Given the description of an element on the screen output the (x, y) to click on. 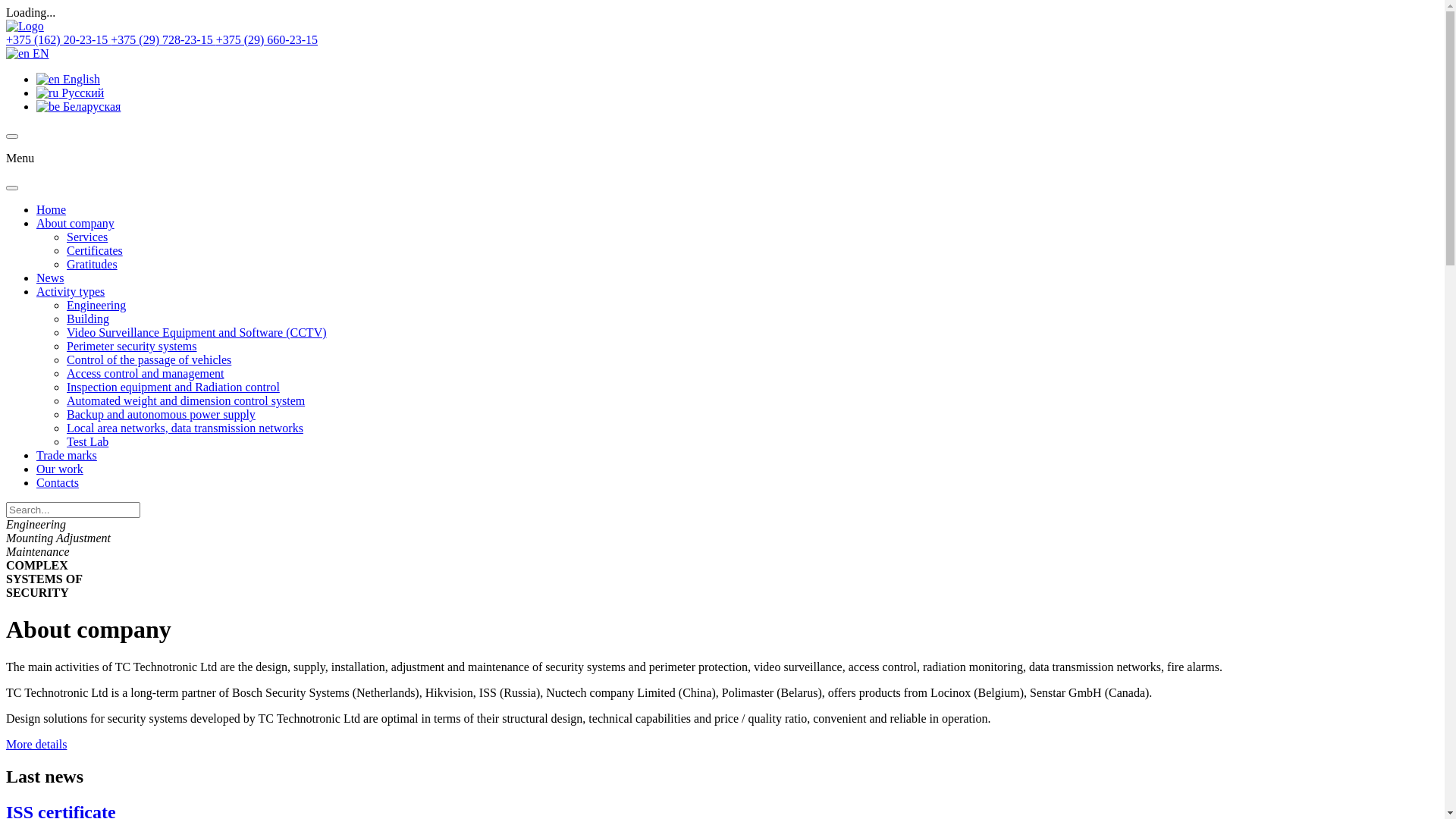
Test Lab Element type: text (87, 441)
Engineering Element type: text (95, 304)
More details Element type: text (36, 743)
Access control and management Element type: text (144, 373)
 English Element type: text (68, 78)
Trade marks Element type: text (66, 454)
+375 (162) 20-23-15 Element type: text (58, 39)
About company Element type: text (75, 222)
Video Surveillance Equipment and Software (CCTV) Element type: text (196, 332)
Perimeter security systems Element type: text (131, 345)
Backup and autonomous power supply Element type: text (160, 413)
News Element type: text (49, 277)
Home Element type: text (50, 209)
Services Element type: text (86, 236)
+375 (29) 728-23-15 Element type: text (162, 39)
Contacts Element type: text (57, 482)
 EN Element type: text (27, 53)
Building Element type: text (87, 318)
Certificates Element type: text (94, 250)
Automated weight and dimension control system Element type: text (185, 400)
Activity types Element type: text (70, 291)
Local area networks, data transmission networks Element type: text (184, 427)
Our work Element type: text (59, 468)
Control of the passage of vehicles Element type: text (148, 359)
+375 (29) 660-23-15 Element type: text (266, 39)
Gratitudes Element type: text (91, 263)
Inspection equipment and Radiation control Element type: text (172, 386)
